Given the description of an element on the screen output the (x, y) to click on. 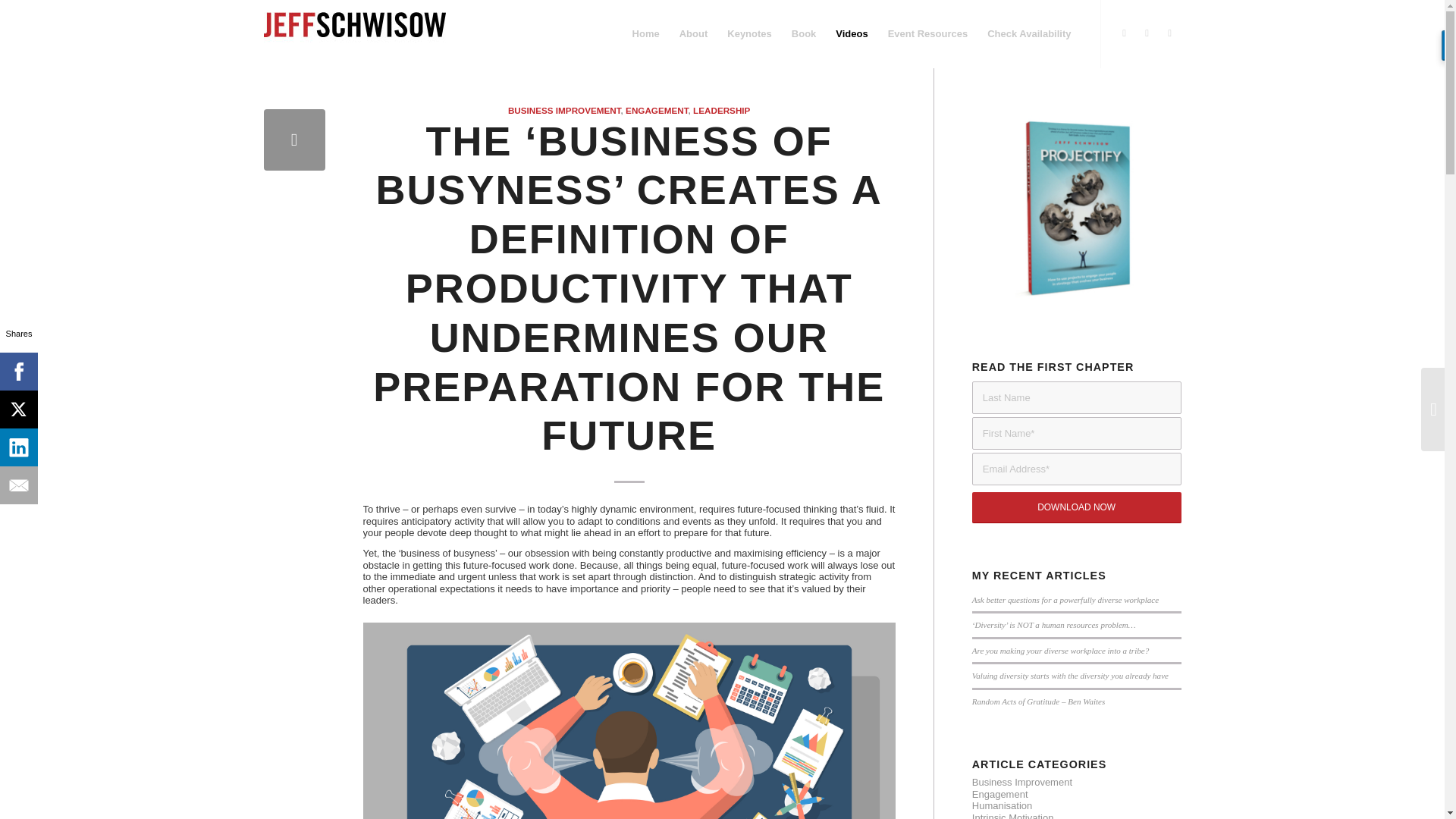
ENGAGEMENT (656, 110)
Youtube (1169, 33)
DOWNLOAD NOW (1076, 507)
DOWNLOAD NOW (1076, 507)
Ask better questions for a powerfully diverse workplace (1065, 599)
Check Availability (1028, 33)
Feeling the business of busyness (293, 139)
X (1146, 33)
Event Resources (927, 33)
LinkedIn (1124, 33)
